Given the description of an element on the screen output the (x, y) to click on. 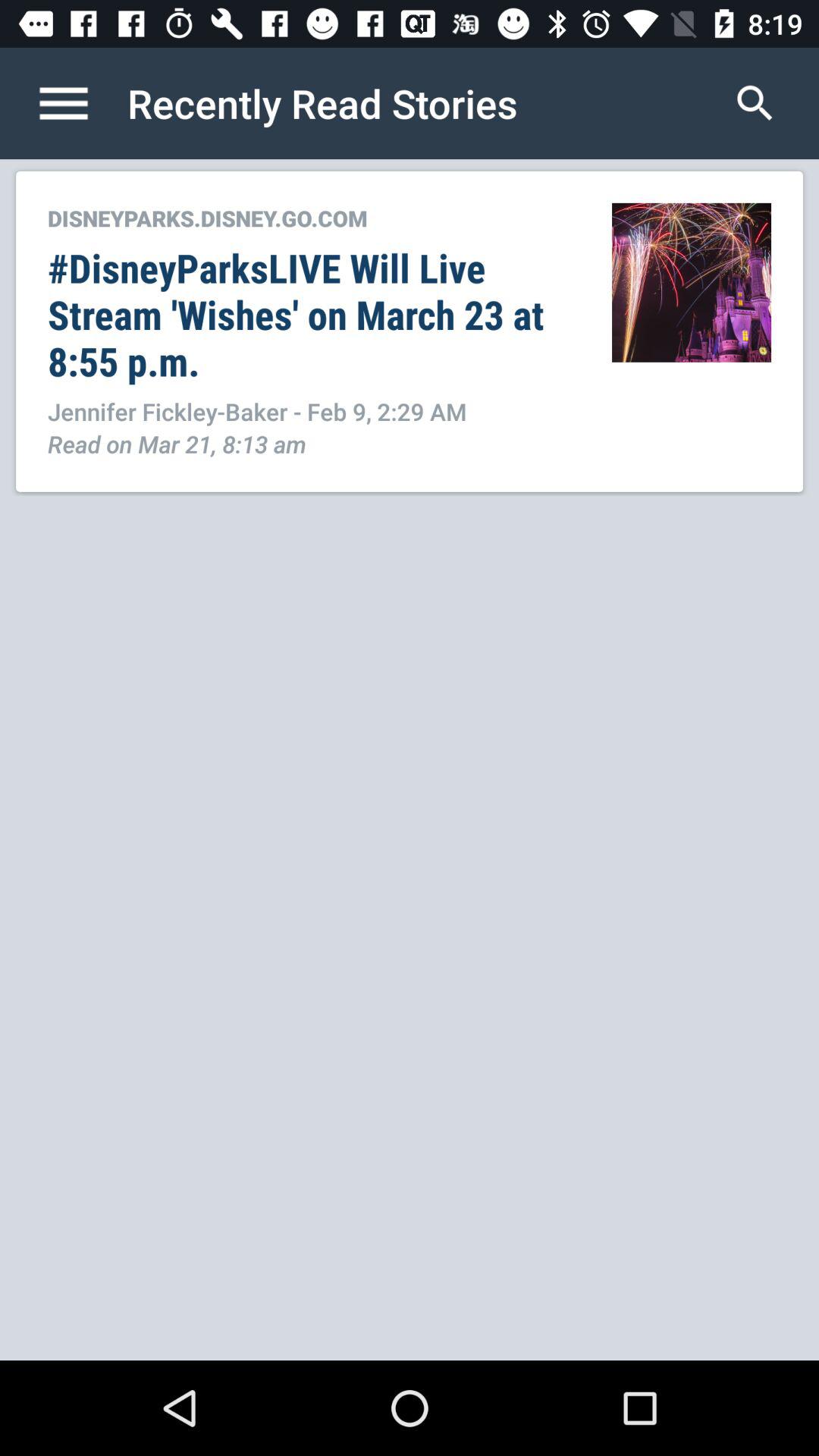
swipe until read on mar icon (176, 443)
